Given the description of an element on the screen output the (x, y) to click on. 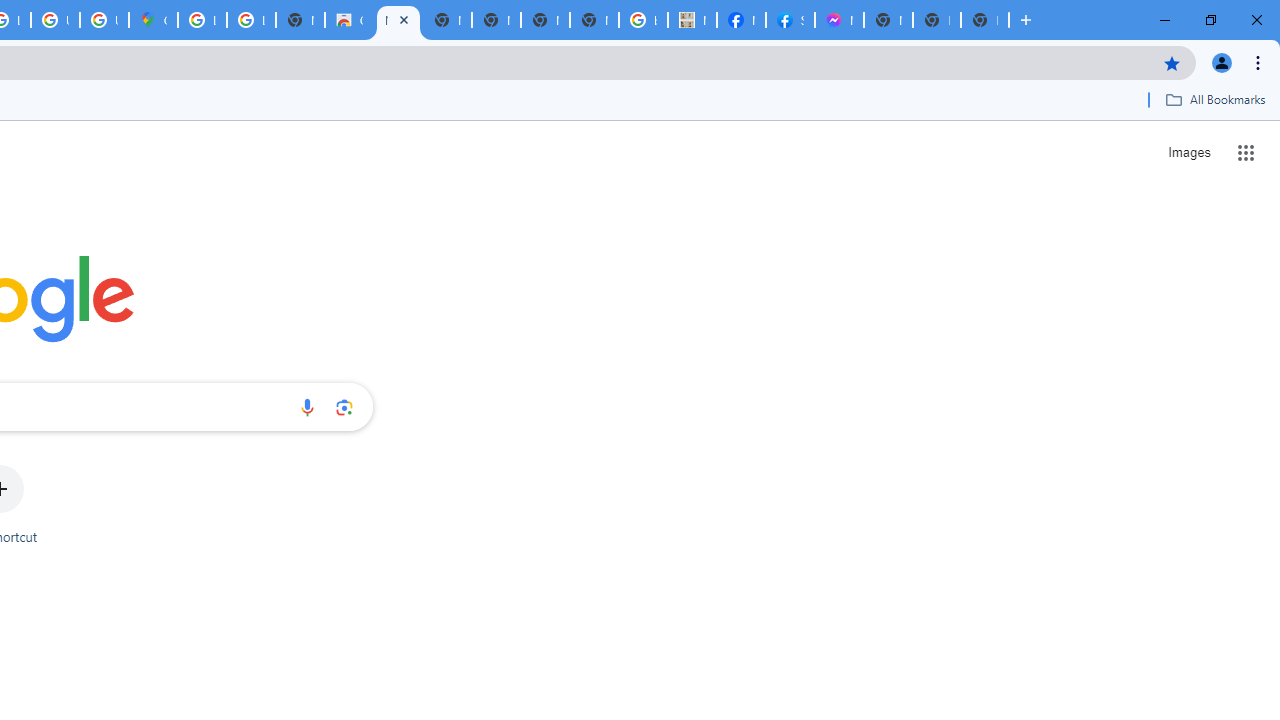
MILEY CYRUS. (692, 20)
Miley Cyrus | Facebook (740, 20)
Google Maps (153, 20)
